Given the description of an element on the screen output the (x, y) to click on. 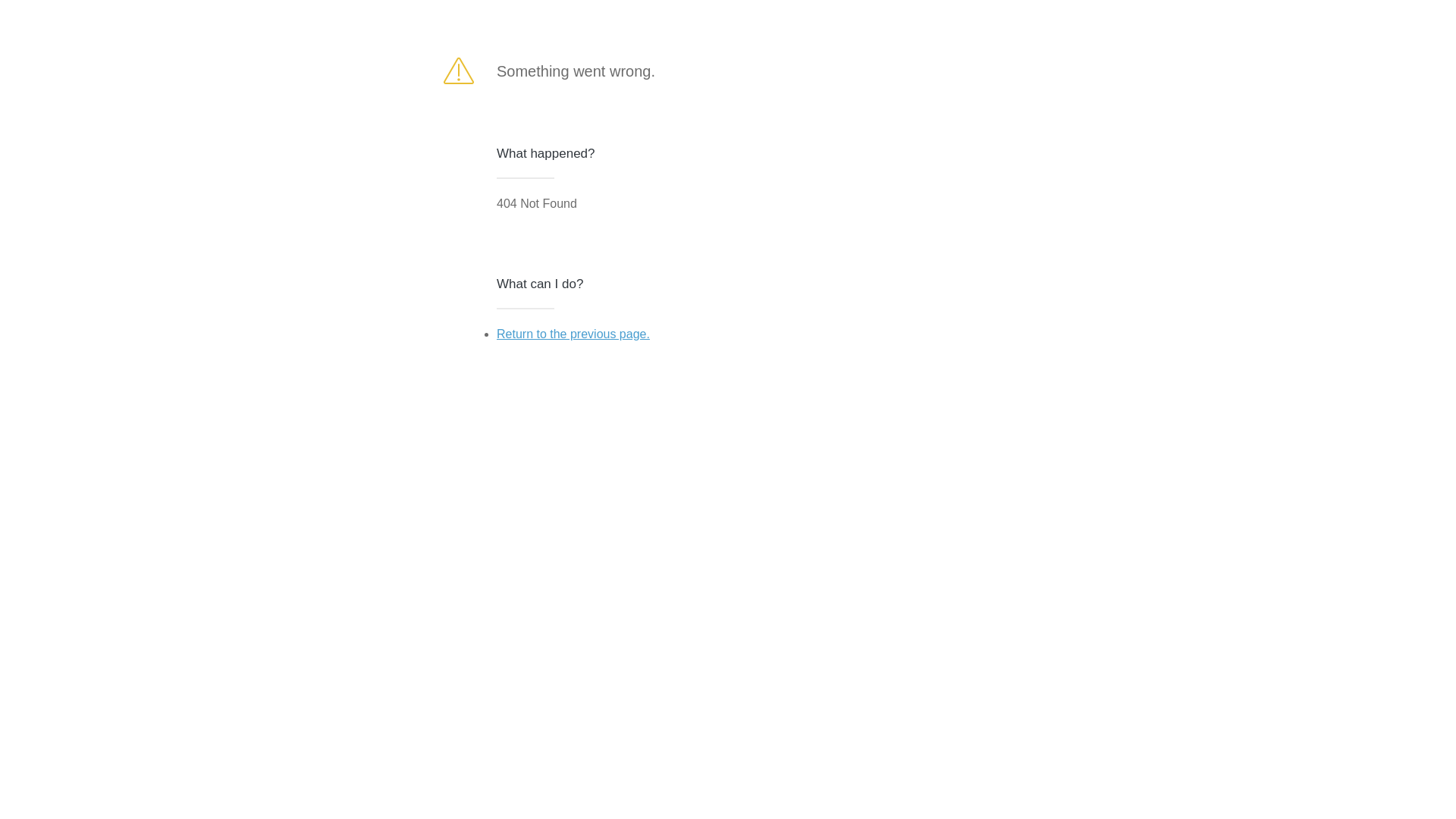
Return to the previous page. Element type: text (572, 333)
